Given the description of an element on the screen output the (x, y) to click on. 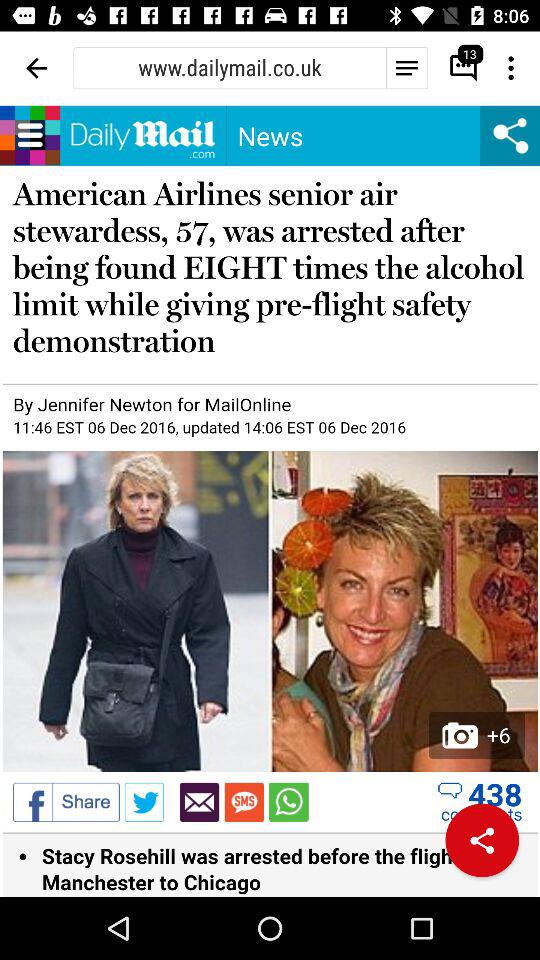
view article (270, 501)
